Given the description of an element on the screen output the (x, y) to click on. 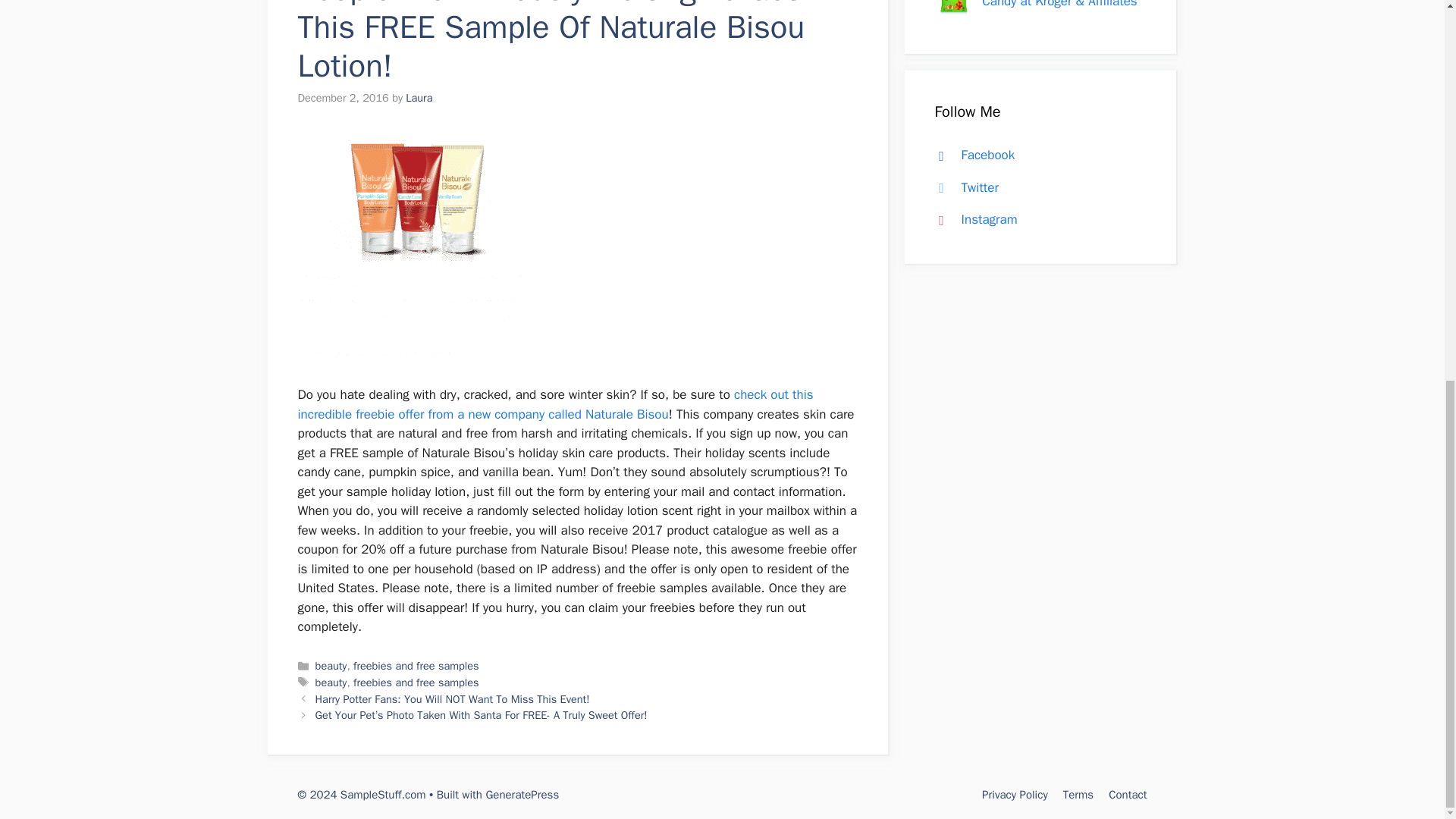
Twitter (962, 187)
Instagram (972, 219)
Previous (452, 698)
Facebook (971, 154)
Facebook (971, 154)
Instagram (972, 219)
beauty (331, 682)
Harry Potter Fans: You Will NOT Want To Miss This Event! (452, 698)
Twitter (962, 187)
Terms (1077, 794)
Contact (1127, 794)
freebies and free samples (416, 665)
Next (481, 714)
freebies and free samples (416, 682)
